Given the description of an element on the screen output the (x, y) to click on. 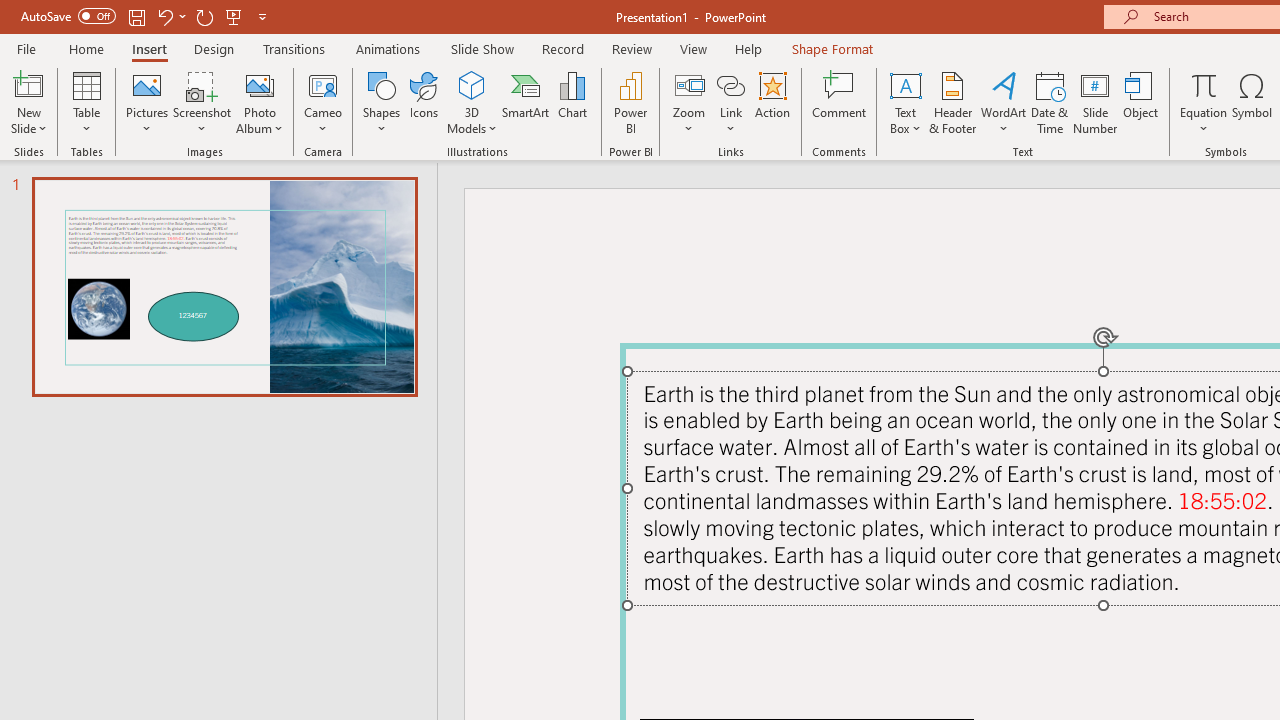
Object... (1141, 102)
Comment (839, 102)
Draw Horizontal Text Box (905, 84)
Screenshot (202, 102)
Chart... (572, 102)
